Given the description of an element on the screen output the (x, y) to click on. 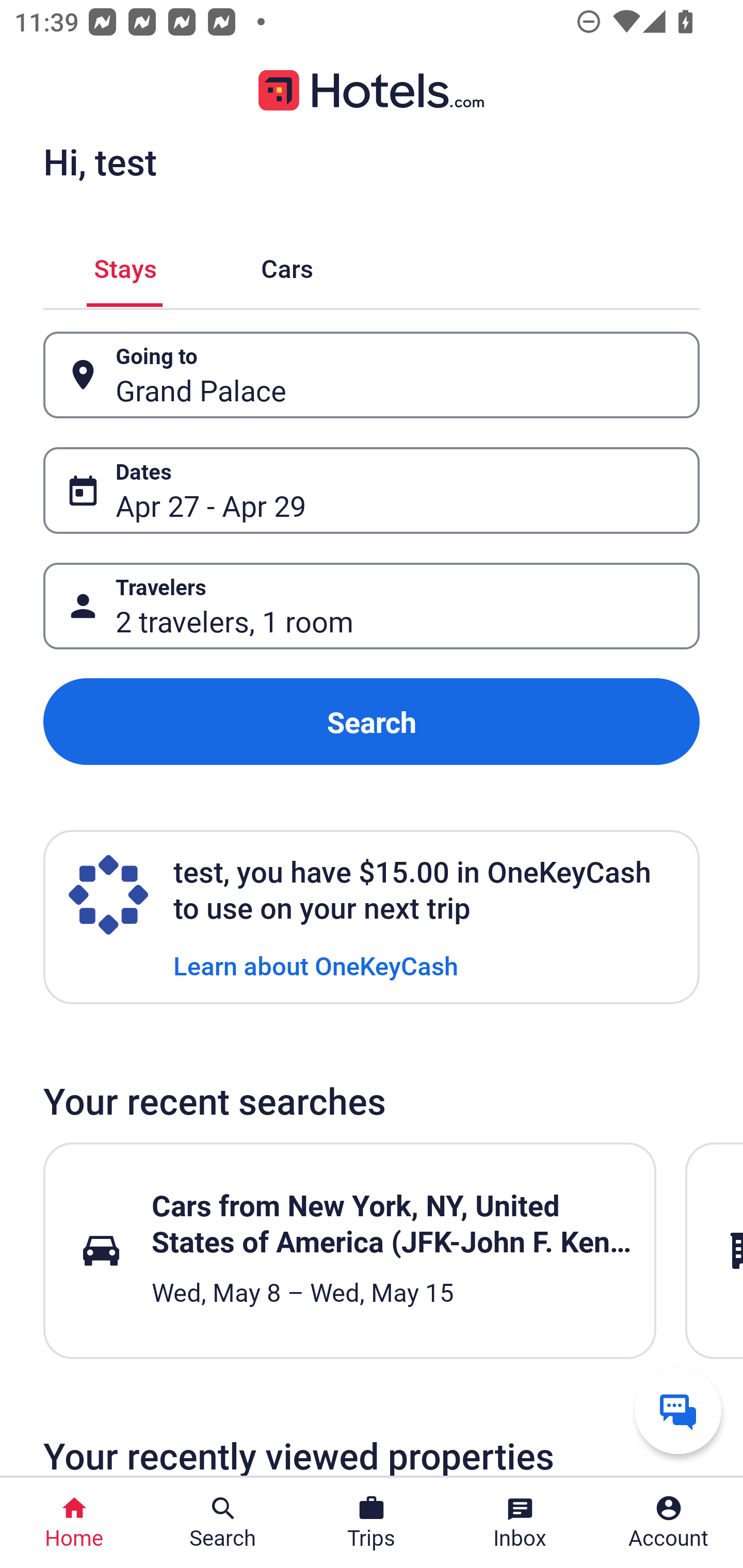
Hi, test (99, 161)
Cars (286, 265)
Going to Button Grand Palace (371, 375)
Dates Button Apr 27 - Apr 29 (371, 489)
Travelers Button 2 travelers, 1 room (371, 605)
Search (371, 721)
Learn about OneKeyCash Learn about OneKeyCash Link (315, 964)
Get help from a virtual agent (677, 1410)
Search Search Button (222, 1522)
Trips Trips Button (371, 1522)
Inbox Inbox Button (519, 1522)
Account Profile. Button (668, 1522)
